Given the description of an element on the screen output the (x, y) to click on. 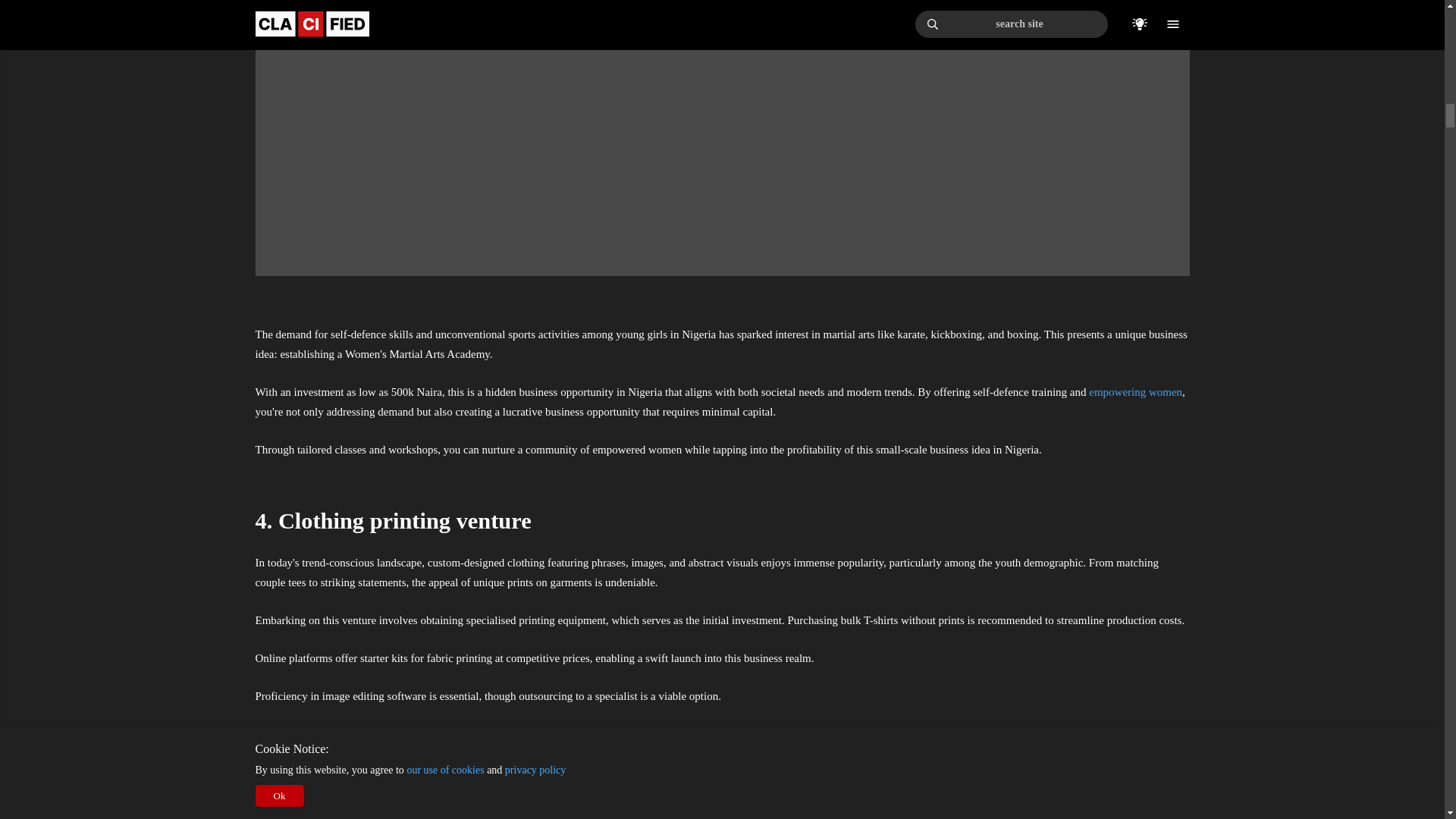
empowering women (1135, 391)
